Given the description of an element on the screen output the (x, y) to click on. 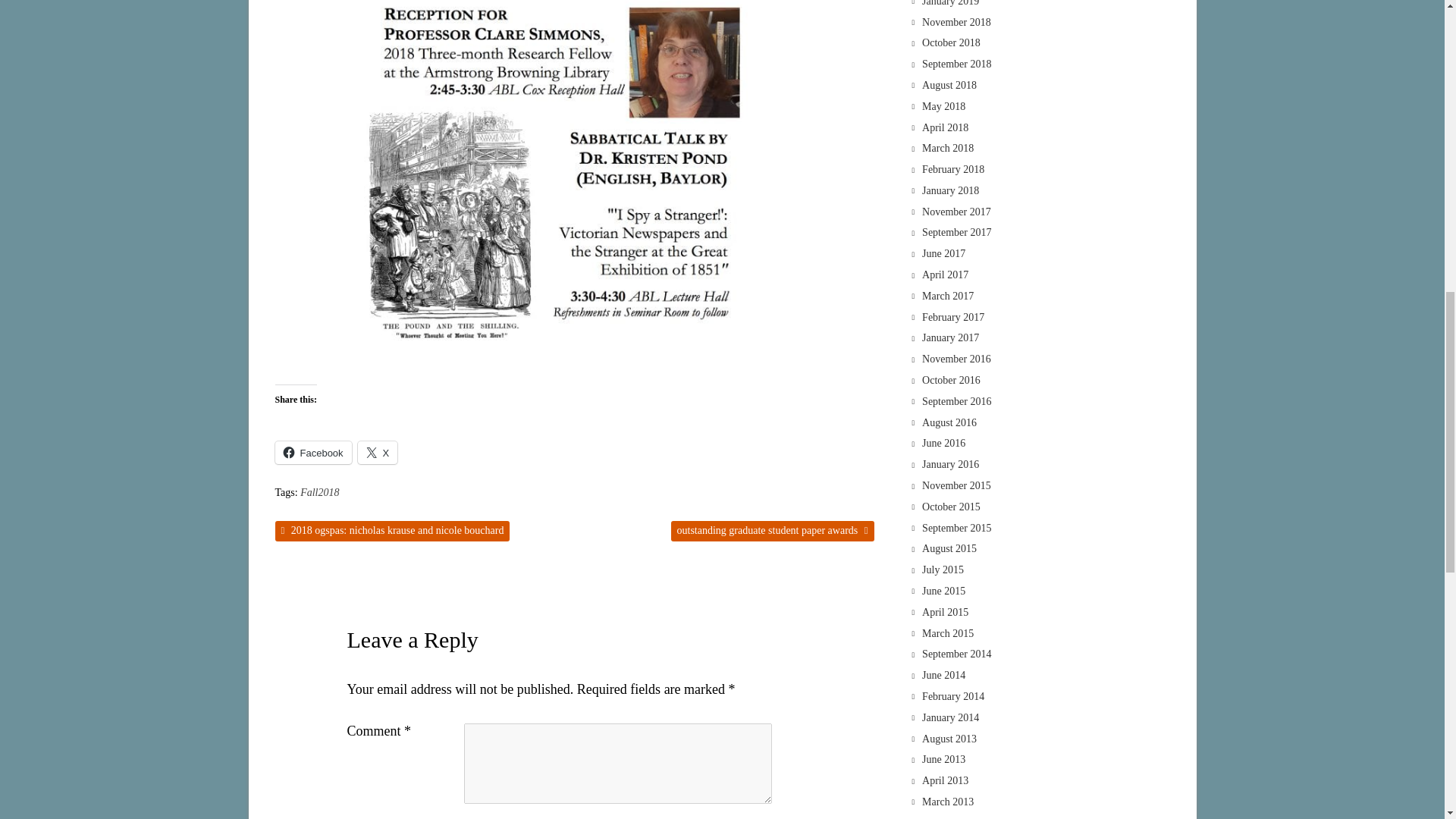
Click to share on Facebook (312, 452)
Facebook (312, 452)
Fall2018 (319, 493)
X (377, 452)
2018 ogspas: nicholas krause and nicole bouchard (392, 530)
Click to share on X (377, 452)
outstanding graduate student paper awards (773, 530)
